Given the description of an element on the screen output the (x, y) to click on. 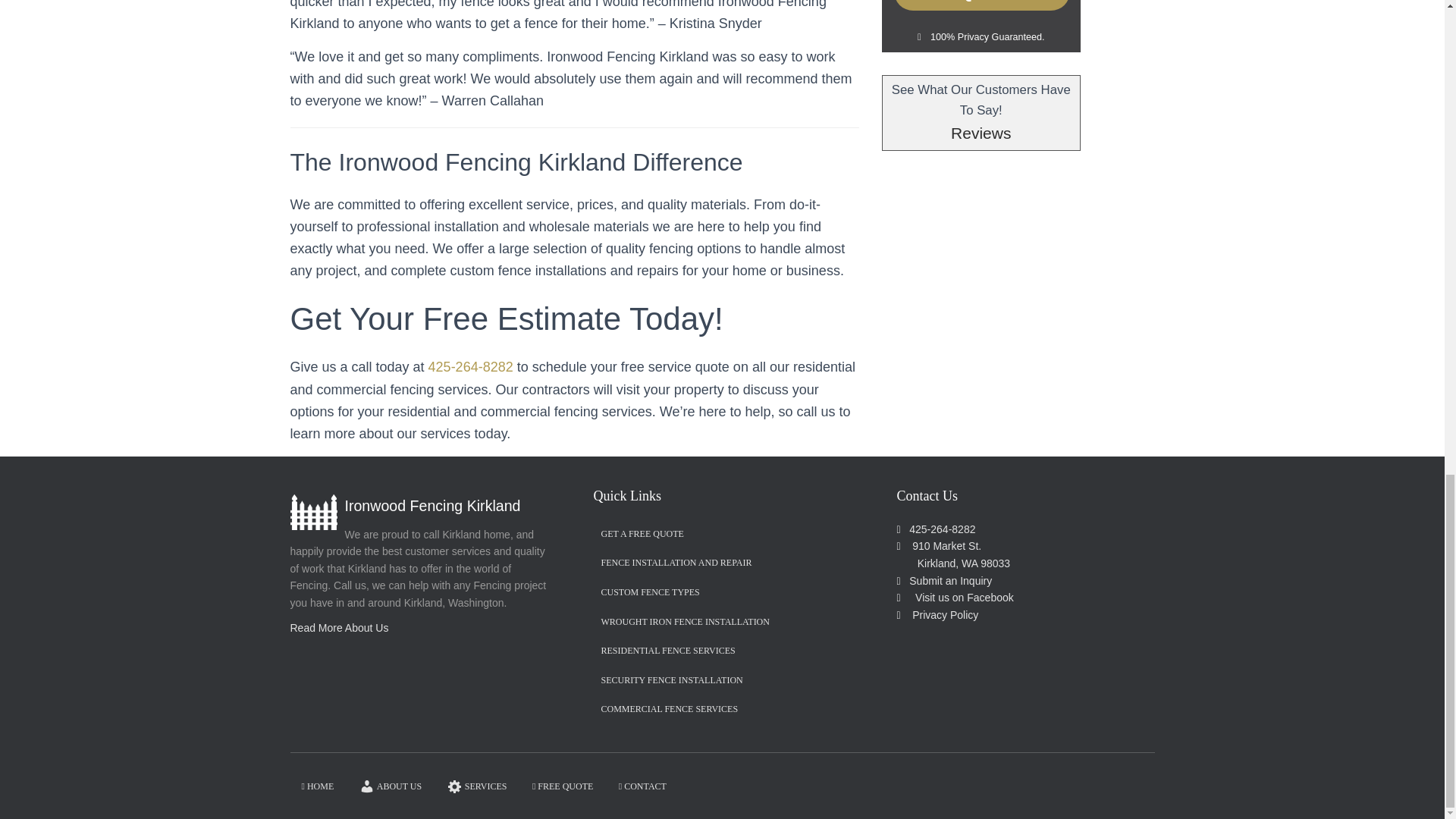
GET A FREE QUOTE (640, 534)
GET QUOTE! (981, 4)
FENCE INSTALLATION AND REPAIR (675, 563)
Read More About Us (338, 627)
  Submit an Inquiry (946, 580)
425-264-8282 (941, 529)
WROUGHT IRON FENCE INSTALLATION (683, 621)
425-264-8282 (470, 366)
COMMERCIAL FENCE SERVICES (668, 709)
RESIDENTIAL FENCE SERVICES (667, 650)
